Given the description of an element on the screen output the (x, y) to click on. 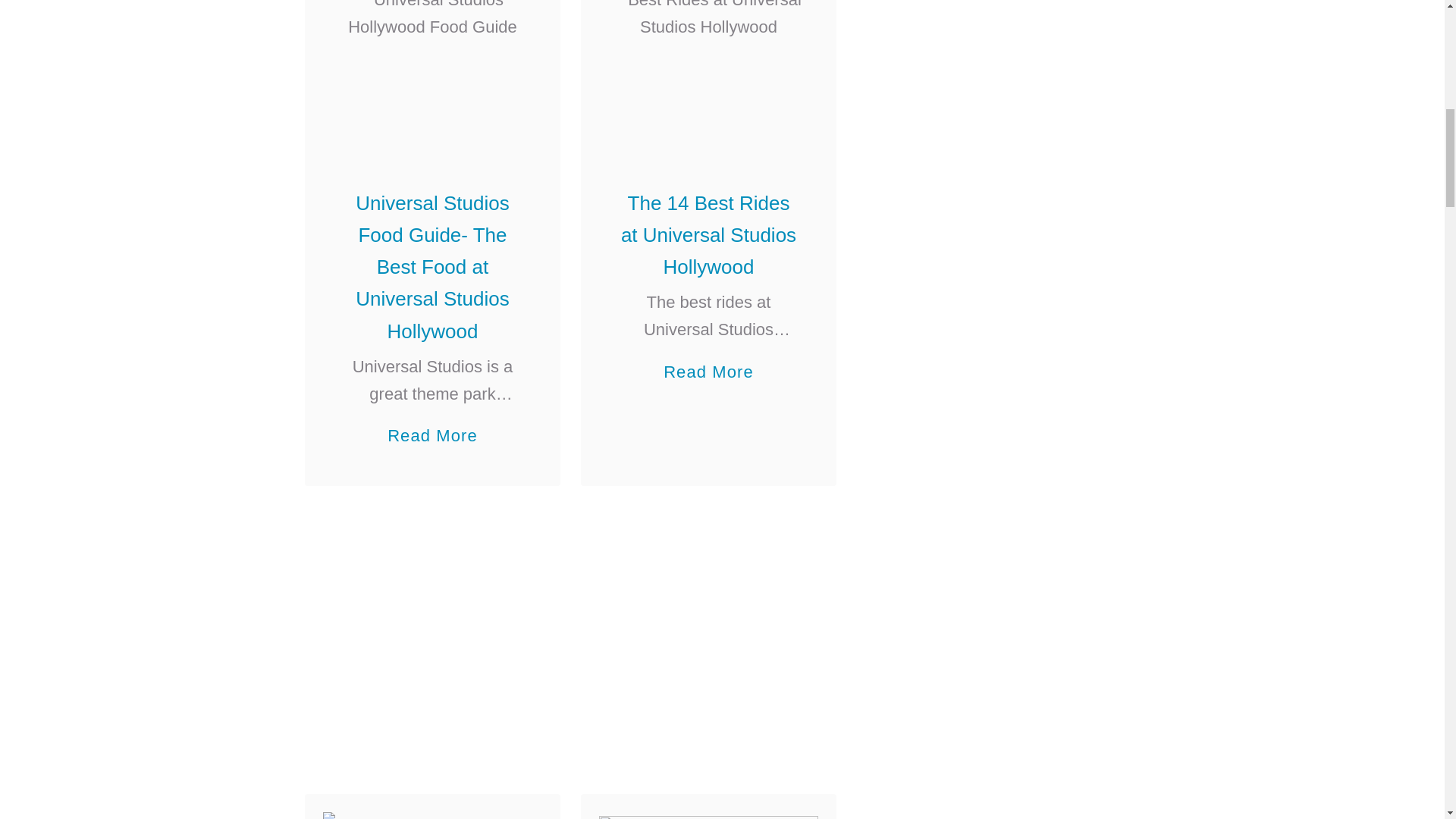
The 14 Best Rides at Universal Studios Hollywood (708, 75)
The 14 Best Rides at Universal Studios Hollywood (708, 235)
10 Best Beaches in Santa Barbara (432, 815)
